Given the description of an element on the screen output the (x, y) to click on. 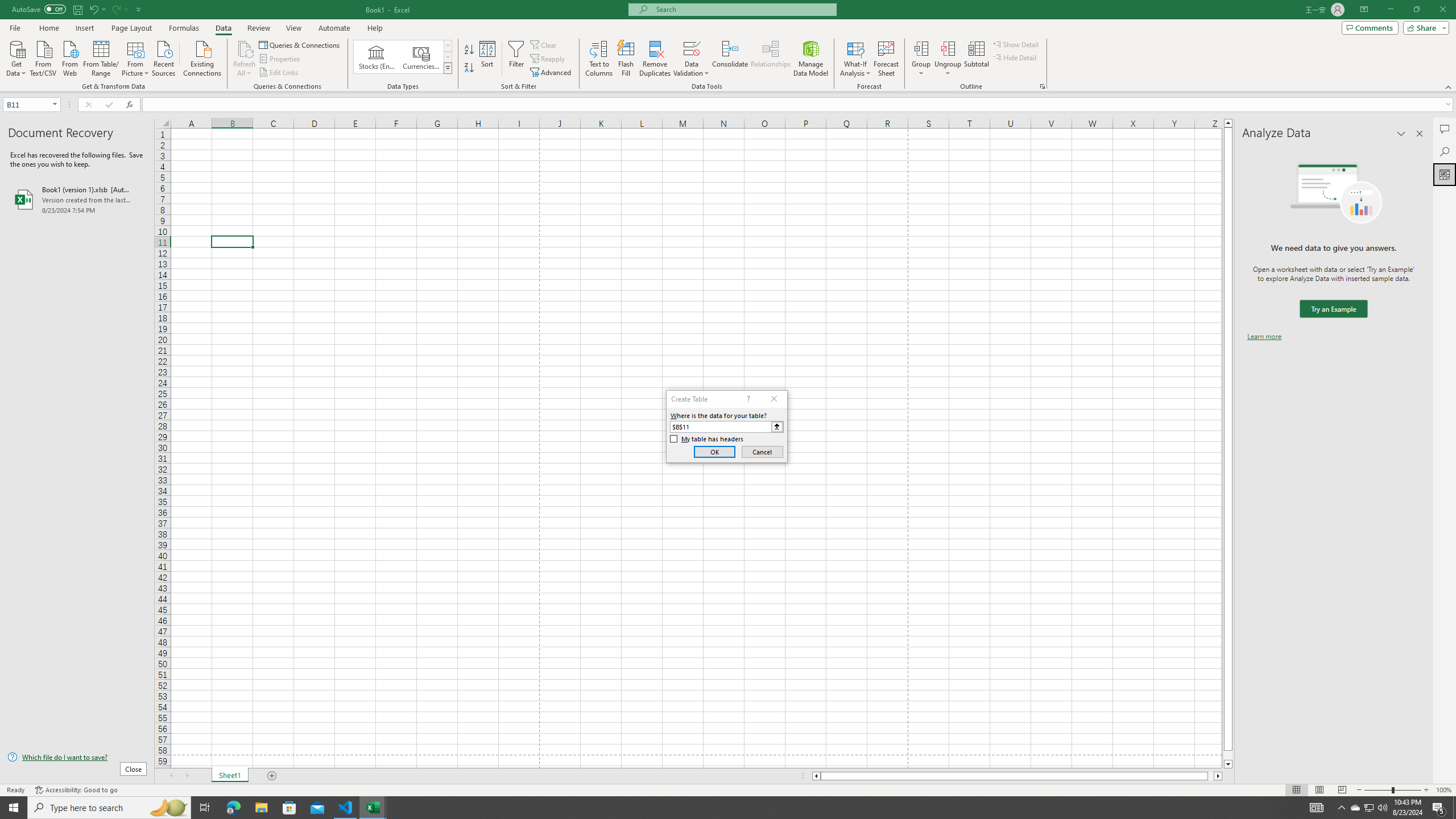
Flash Fill (625, 58)
Sort A to Z (469, 49)
Learn more (1264, 336)
Remove Duplicates (654, 58)
Hide Detail (1014, 56)
Advanced... (551, 72)
